Given the description of an element on the screen output the (x, y) to click on. 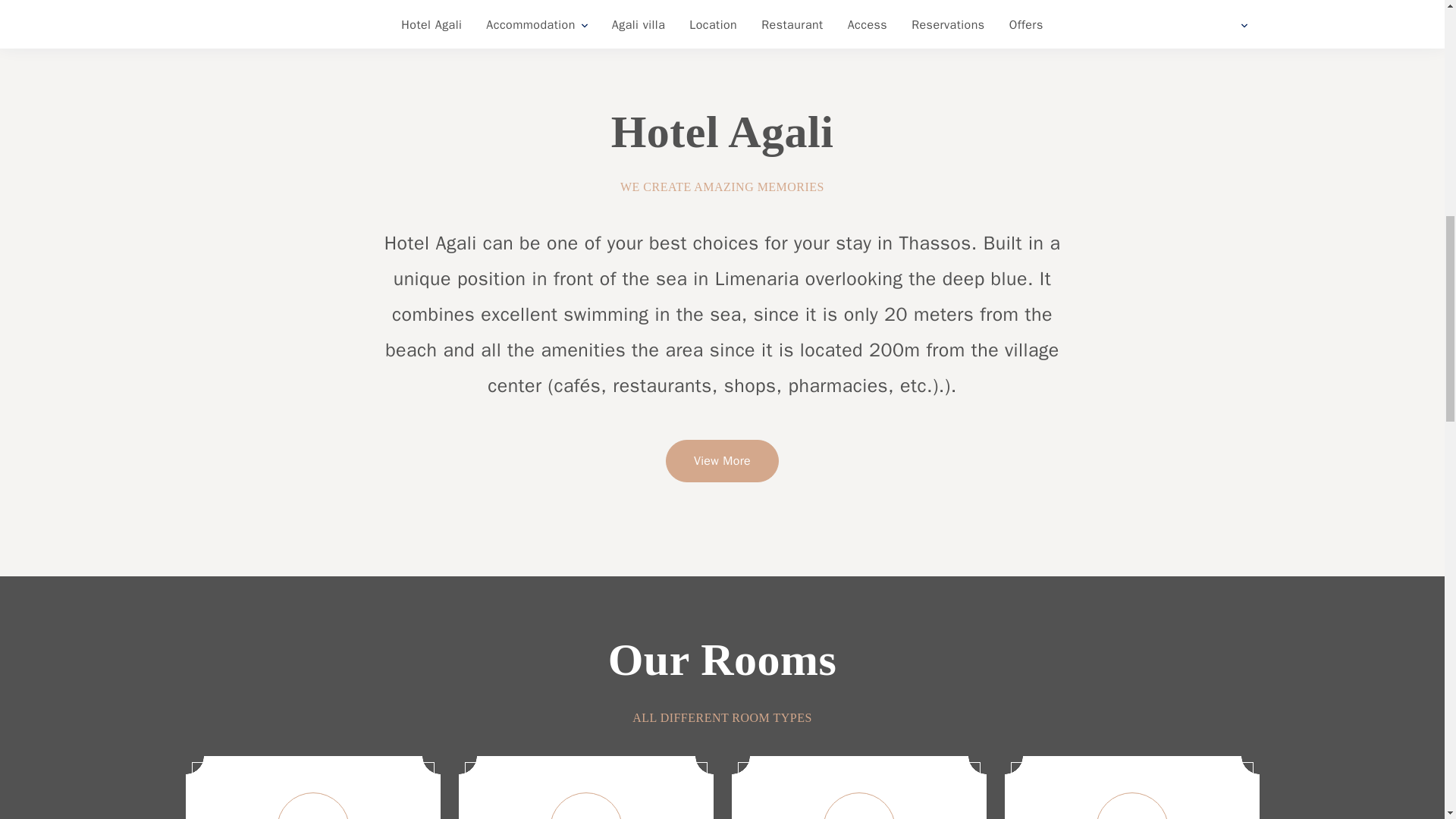
View More (721, 460)
